Given the description of an element on the screen output the (x, y) to click on. 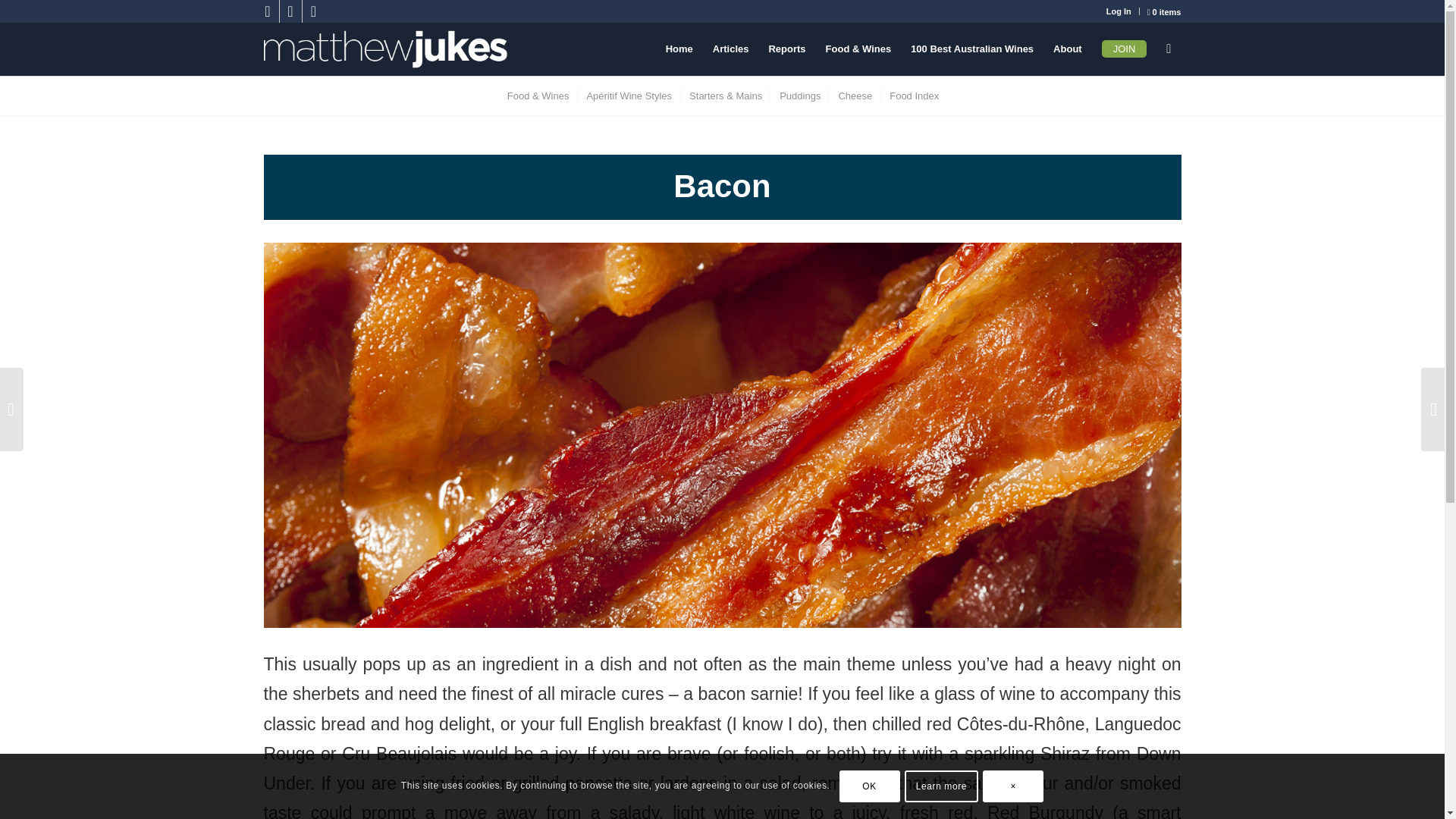
Food Index (912, 95)
100 Best Australian Wines (972, 49)
Puddings (799, 95)
JOIN (1124, 49)
Articles (730, 49)
Cheese (853, 95)
0 items (1163, 12)
Log In (1118, 11)
About (1067, 49)
Reports (786, 49)
